Given the description of an element on the screen output the (x, y) to click on. 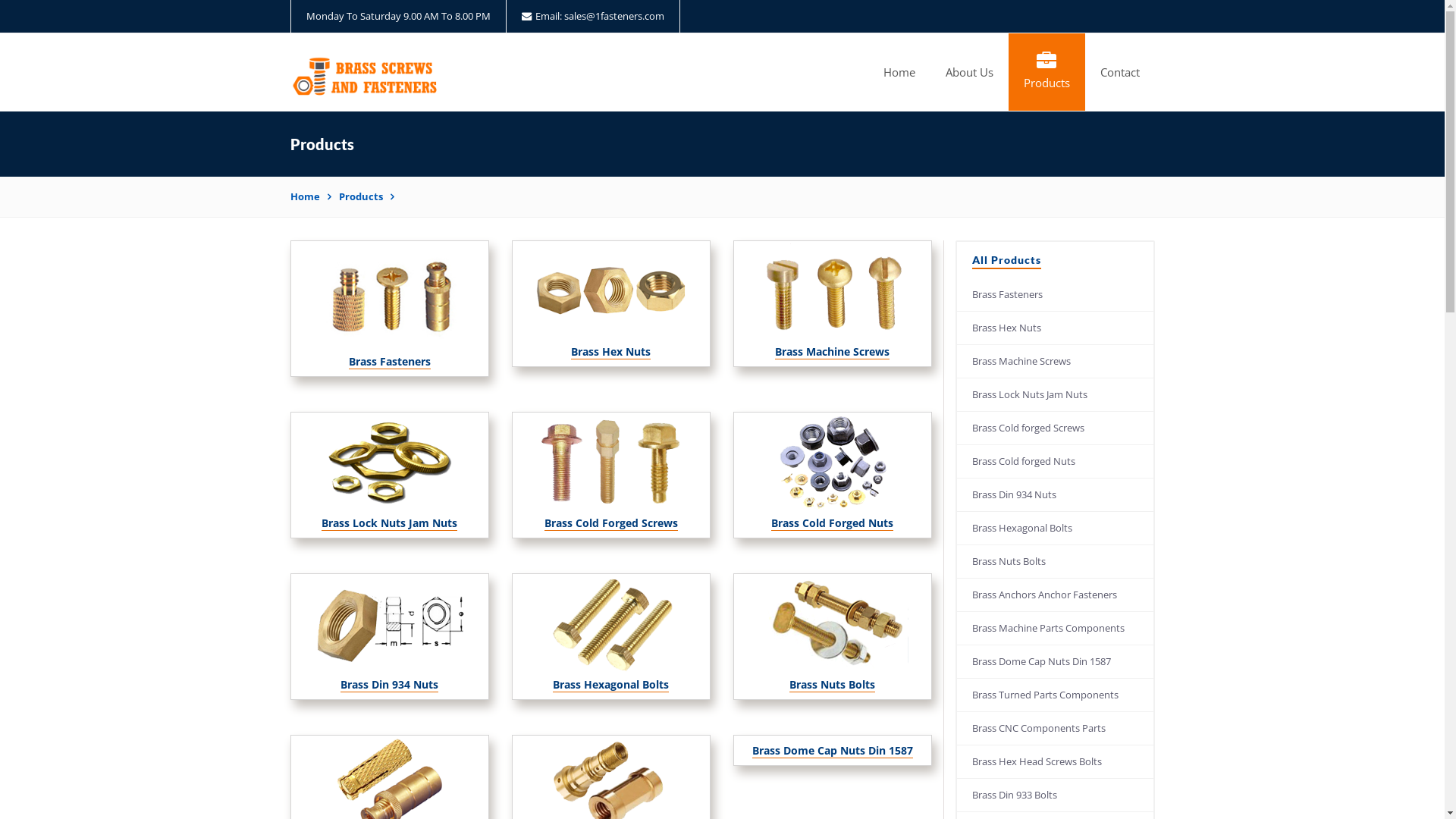
Brass Hex Nuts Element type: text (610, 351)
Brass Turned Parts Components Element type: text (1055, 695)
Brass Lock Nuts Jam Nuts Element type: text (1055, 394)
Brass Din 934 Nuts Element type: text (1055, 494)
sales@1fasteners.com Element type: text (614, 15)
Brass Hex Nuts Element type: text (1055, 328)
Brass Nuts Bolts Element type: text (1055, 561)
About Us Element type: text (968, 71)
Products Element type: text (1046, 71)
Brass Cold forged Nuts Element type: text (1055, 461)
Brass Din 933 Bolts Element type: text (1055, 795)
Brass Machine Parts Components Element type: text (1055, 628)
Contact Element type: text (1119, 71)
Home Element type: text (309, 196)
Brass Nuts Bolts Element type: text (832, 684)
Brass Dome Cap Nuts Din 1587 Element type: text (832, 750)
Brass CNC Components Parts Element type: text (1055, 728)
Brass Lock Nuts Jam Nuts Element type: text (389, 522)
Brass Cold Forged Nuts Element type: text (832, 522)
Brass Fasteners Element type: text (389, 361)
Products Element type: text (365, 196)
Brass Dome Cap Nuts Din 1587 Element type: text (1055, 661)
Brass Machine Screws Element type: text (1055, 361)
Brass Anchors Anchor Fasteners Element type: text (1055, 594)
Brass Din 934 Nuts Element type: text (389, 684)
Brass Machine Screws Element type: text (832, 351)
Brass Hexagonal Bolts Element type: text (1055, 528)
Brass Cold forged Screws Element type: text (1055, 428)
Brass Hexagonal Bolts Element type: text (610, 684)
Brass Hex Head Screws Bolts Element type: text (1055, 761)
Brass Cold Forged Screws Element type: text (610, 522)
Home Element type: text (898, 71)
Brass Fasteners Element type: text (1055, 294)
